Given the description of an element on the screen output the (x, y) to click on. 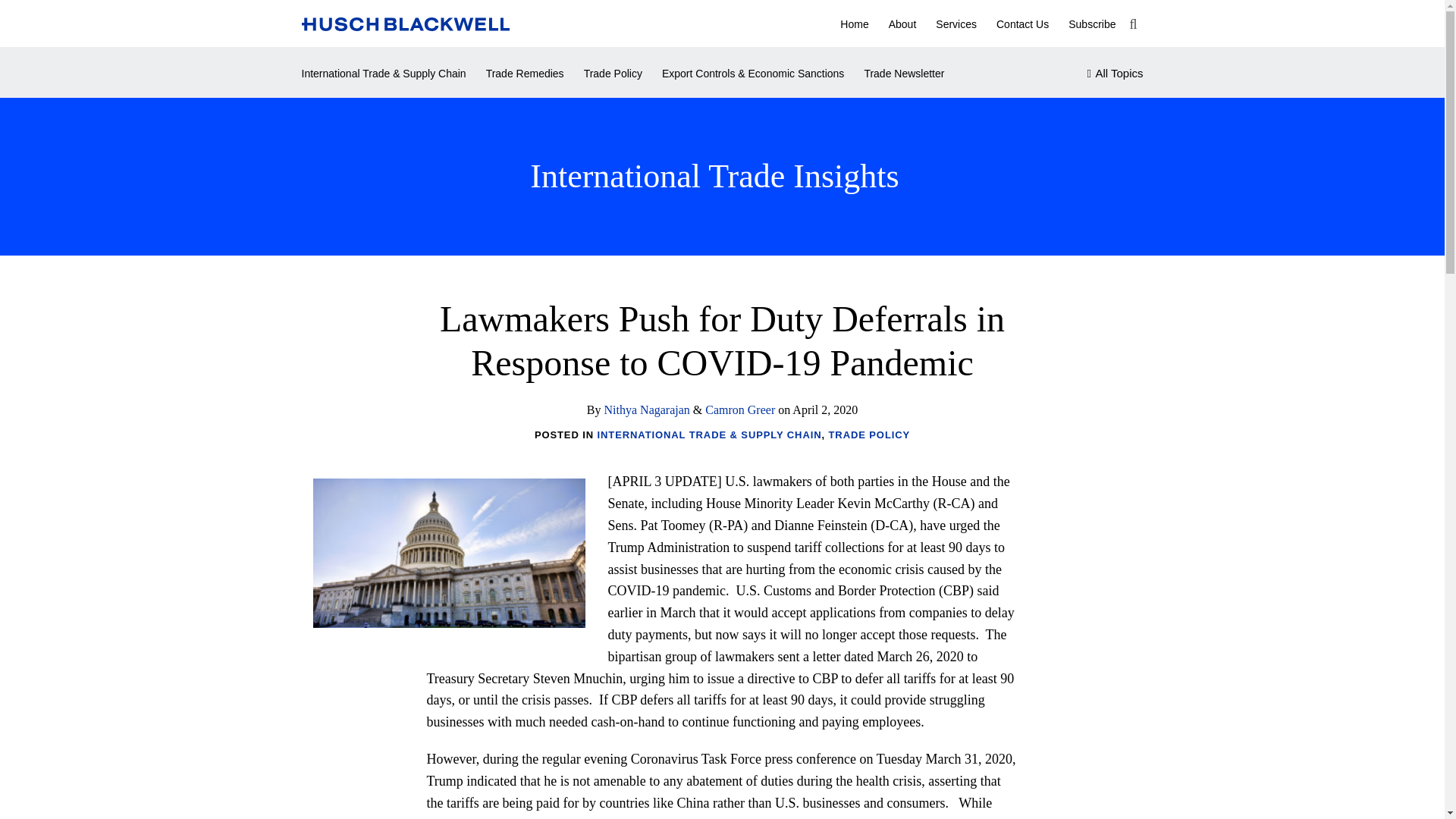
Camron Greer (739, 409)
All Topics (1114, 73)
Services (956, 24)
Subscribe (1091, 24)
Home (853, 24)
Trade Remedies (525, 73)
TRADE POLICY (869, 434)
About (902, 24)
Nithya Nagarajan (647, 409)
Contact Us (1021, 24)
International Trade Insights (713, 176)
Trade Newsletter (903, 73)
Trade Policy (612, 73)
